Given the description of an element on the screen output the (x, y) to click on. 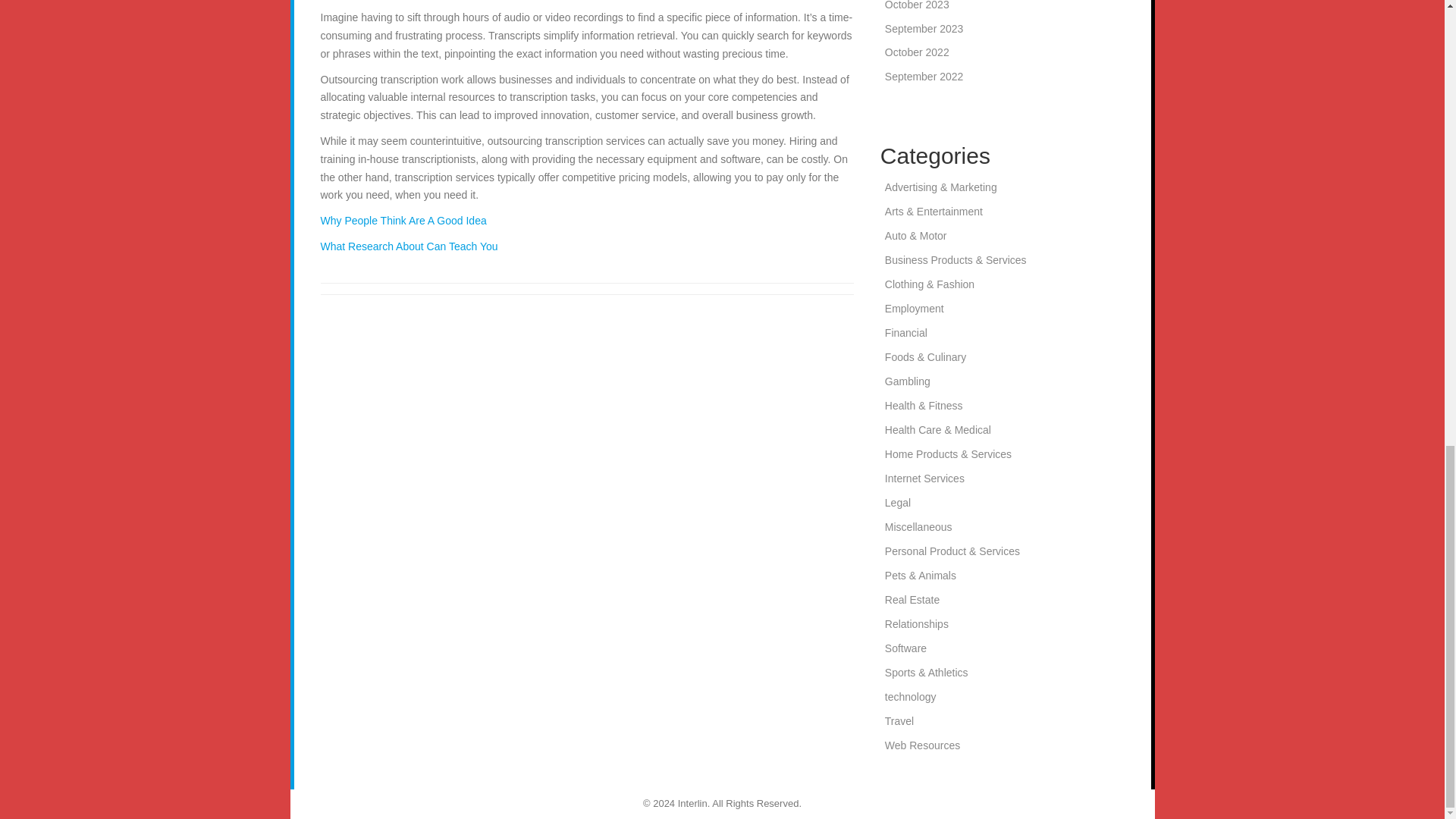
October 2022 (917, 51)
What Research About Can Teach You (408, 246)
Gambling (907, 381)
October 2023 (917, 5)
Financial (906, 332)
September 2023 (924, 28)
Internet Services (924, 478)
Employment (914, 308)
Why People Think Are A Good Idea (403, 220)
September 2022 (924, 76)
